Given the description of an element on the screen output the (x, y) to click on. 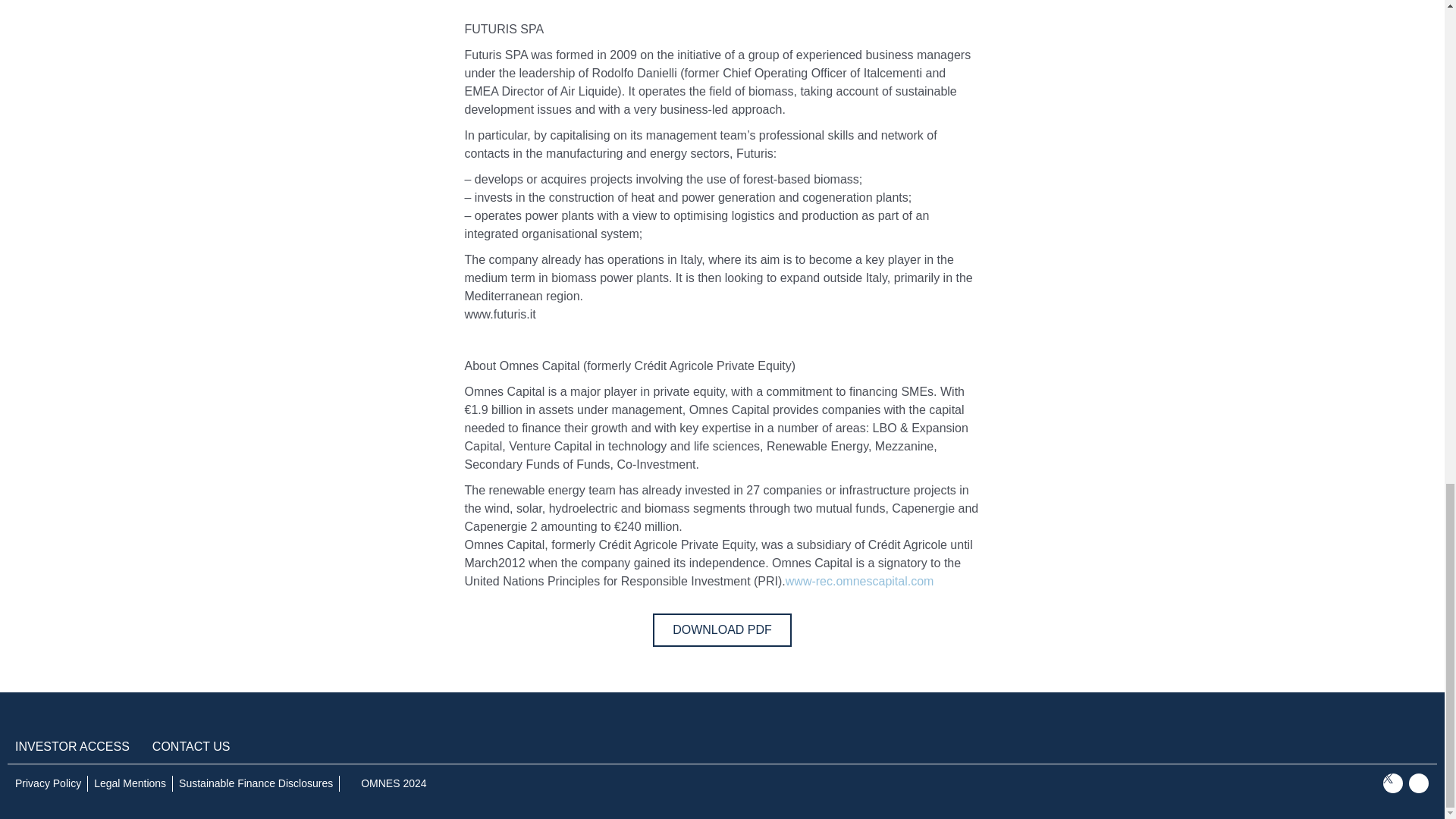
Sustainable Finance Disclosures (256, 783)
DOWNLOAD PDF (722, 630)
INVESTOR ACCESS (71, 746)
CONTACT US (191, 746)
www-rec.omnescapital.com (860, 581)
Legal Mentions (129, 783)
Privacy Policy (47, 783)
